Given the description of an element on the screen output the (x, y) to click on. 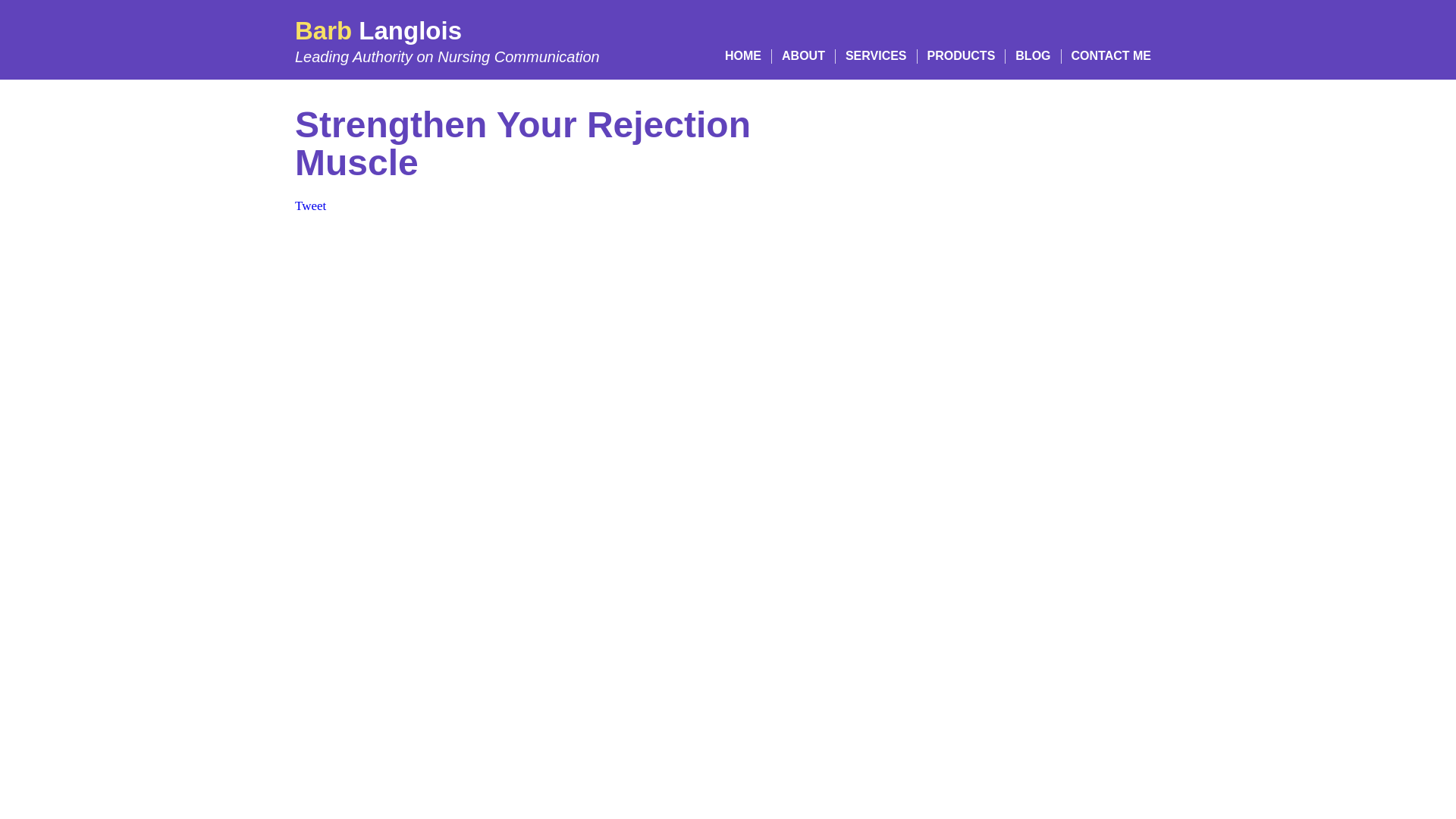
Tweet (310, 205)
ABOUT (803, 56)
BLOG (1031, 56)
SERVICES (876, 56)
PRODUCTS (961, 56)
CONTACT ME (1111, 56)
HOME (447, 41)
